Given the description of an element on the screen output the (x, y) to click on. 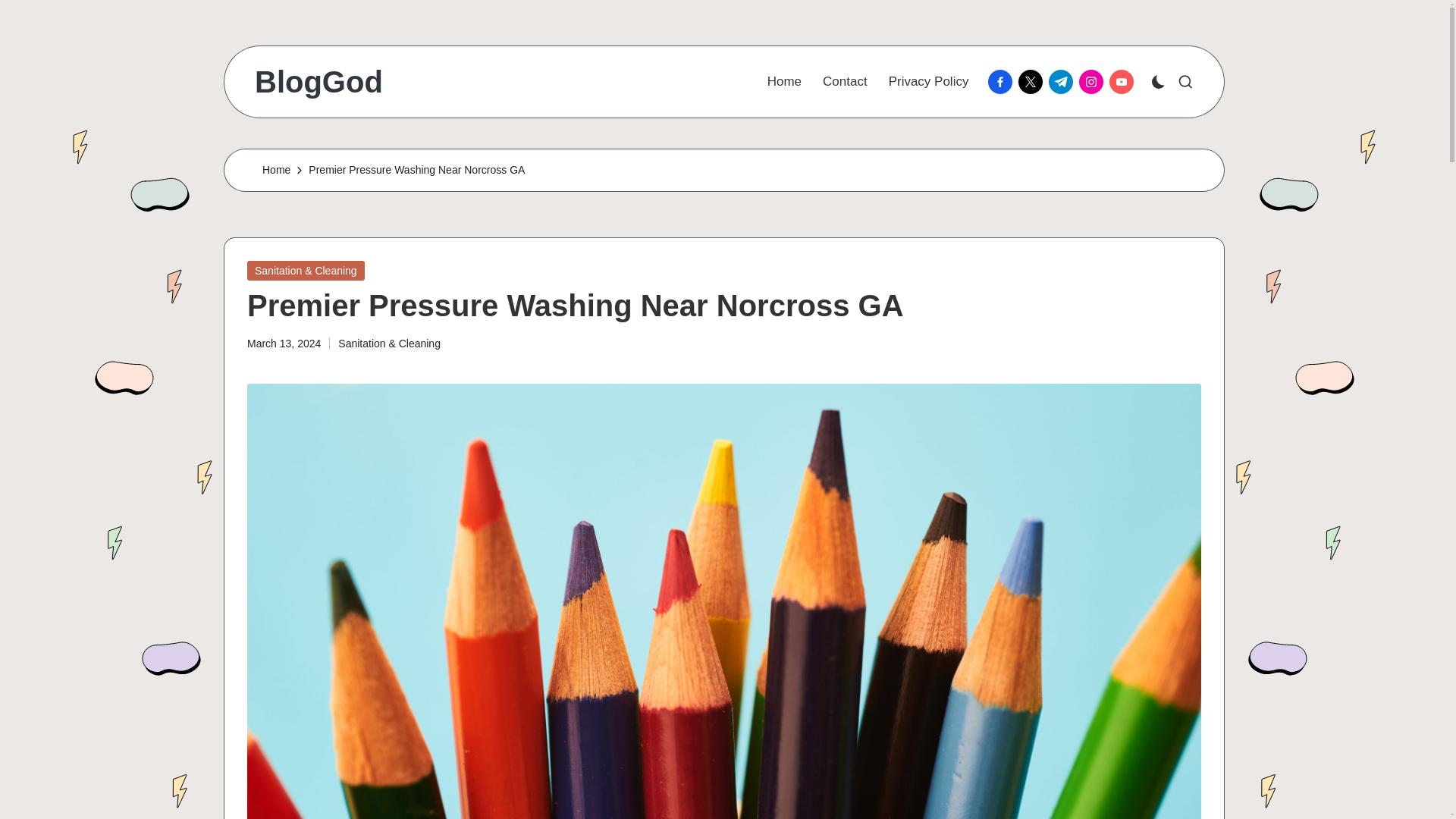
BlogGod (318, 81)
instagram.com (1093, 81)
youtube.com (1124, 81)
Privacy Policy (928, 81)
t.me (1063, 81)
Home (784, 81)
Home (275, 169)
Contact (844, 81)
facebook.com (1002, 81)
twitter.com (1032, 81)
